Given the description of an element on the screen output the (x, y) to click on. 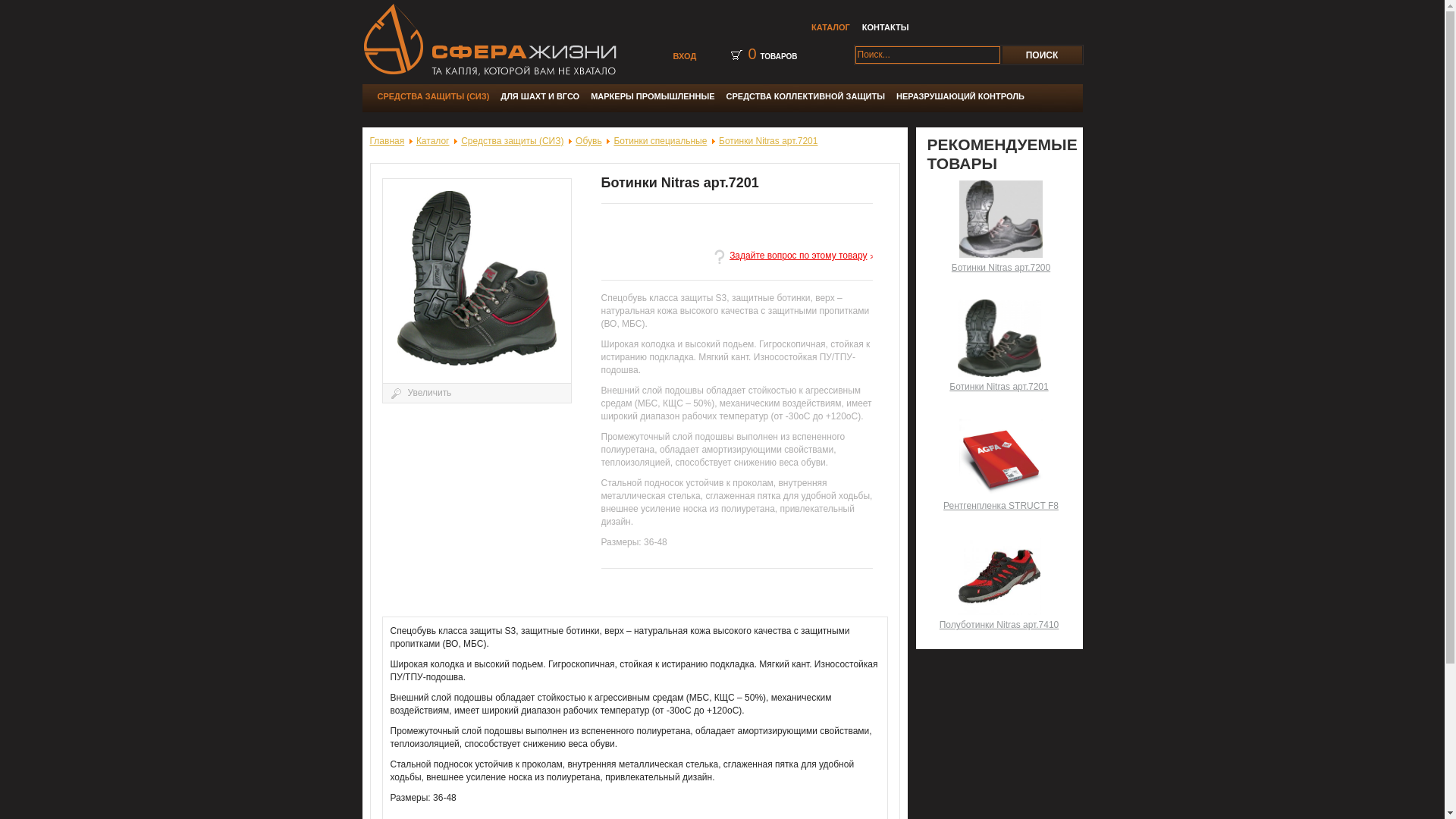
0 Element type: text (752, 53)
